Given the description of an element on the screen output the (x, y) to click on. 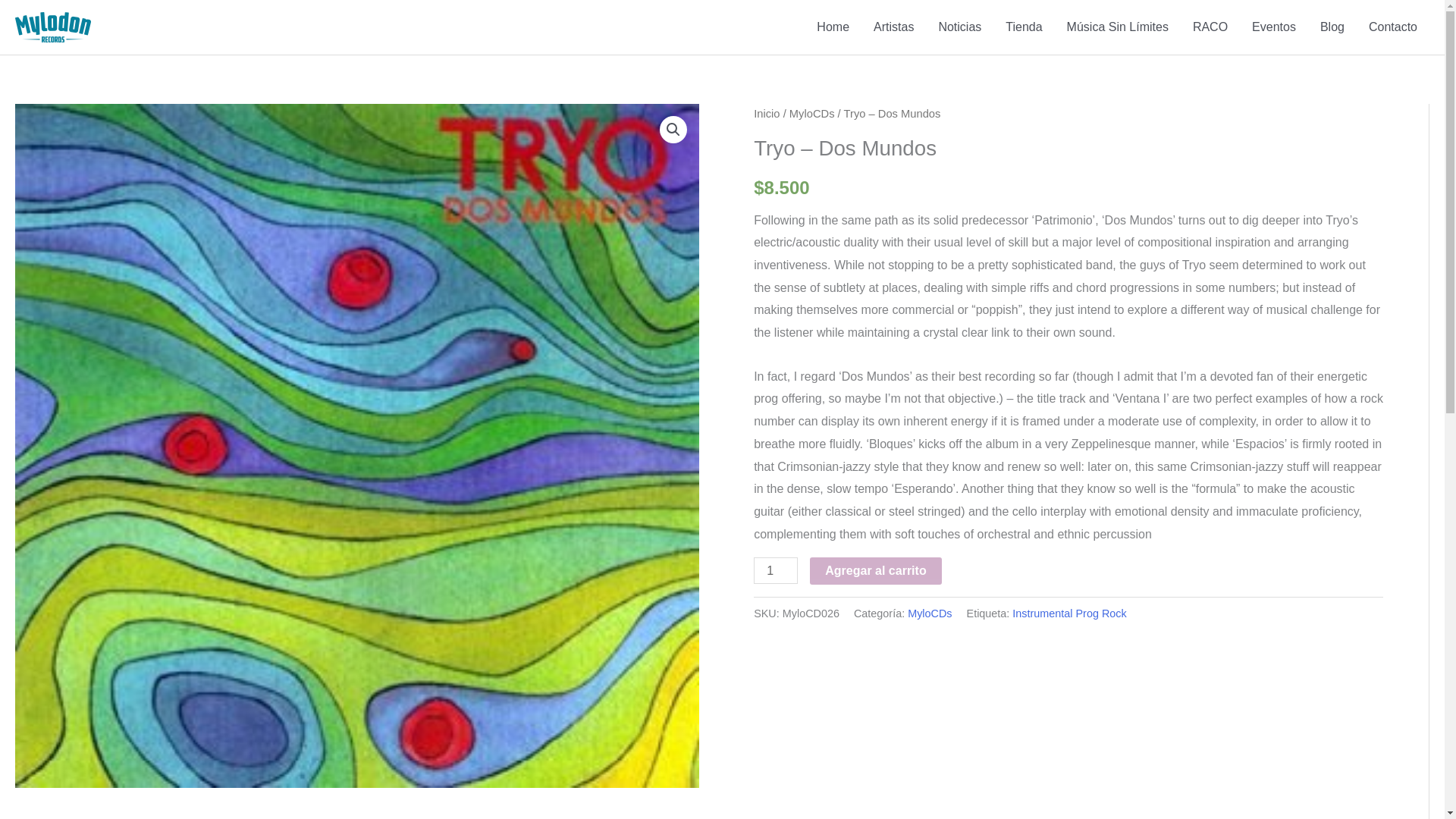
1 (775, 570)
Home (833, 27)
Tienda (1023, 27)
MyloCDs (811, 113)
Noticias (959, 27)
Artistas (893, 27)
Inicio (766, 113)
Instrumental Prog Rock (1068, 613)
Agregar al carrito (874, 570)
Eventos (1273, 27)
